Given the description of an element on the screen output the (x, y) to click on. 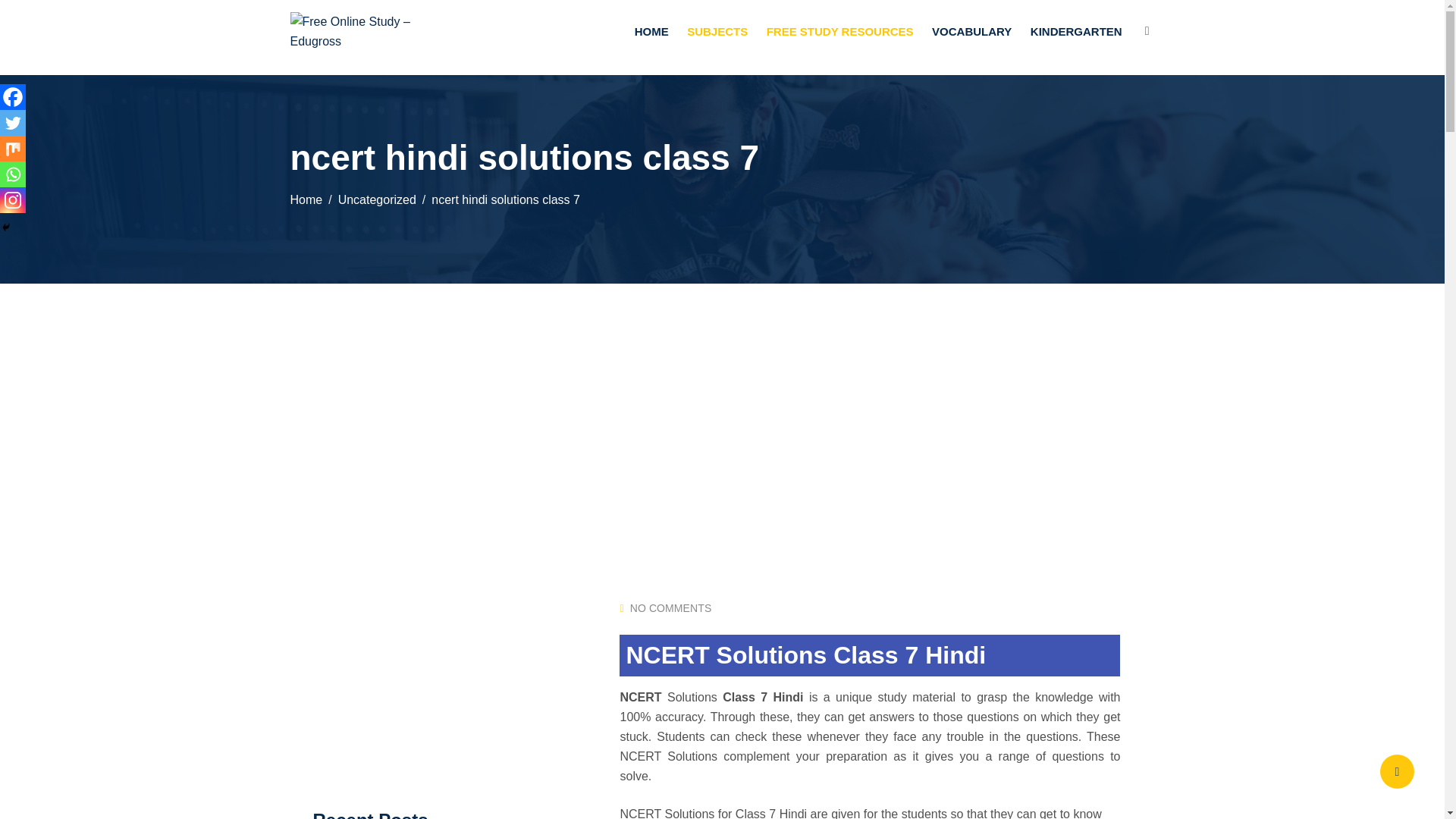
Hide (5, 227)
Facebook (13, 96)
Instagram (13, 199)
Mix (13, 148)
Twitter (13, 122)
Advertisement (425, 677)
Whatsapp (13, 174)
